Given the description of an element on the screen output the (x, y) to click on. 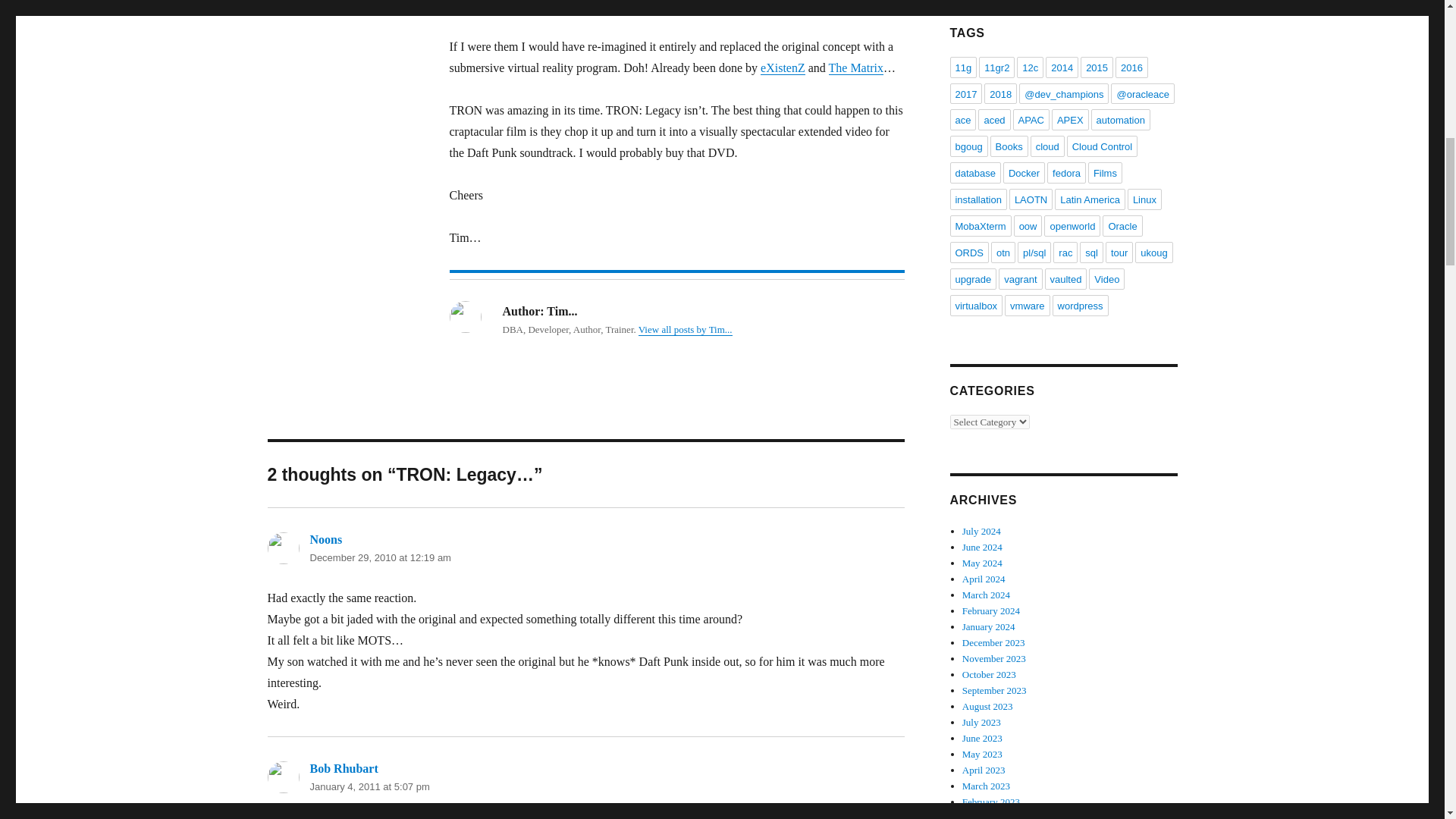
eXistenZ (782, 67)
Noons (325, 539)
View all posts by Tim... (685, 328)
12c (1029, 66)
2014 (1061, 66)
January 4, 2011 at 5:07 pm (368, 786)
11gr2 (996, 66)
December 29, 2010 at 12:19 am (378, 557)
11g (962, 66)
The Matrix (855, 67)
Bob Rhubart (342, 768)
